Given the description of an element on the screen output the (x, y) to click on. 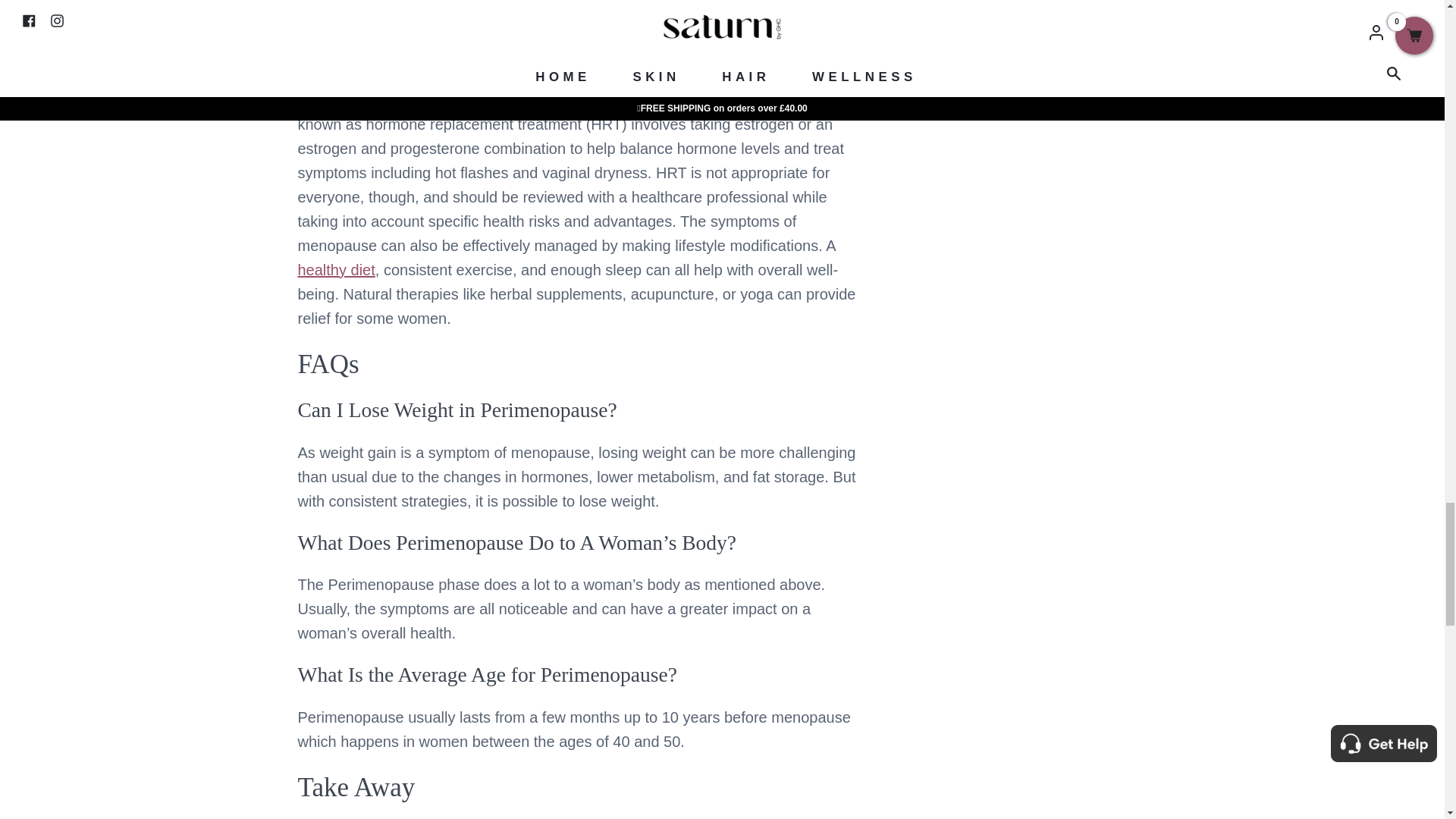
healthy diet (335, 269)
